Given the description of an element on the screen output the (x, y) to click on. 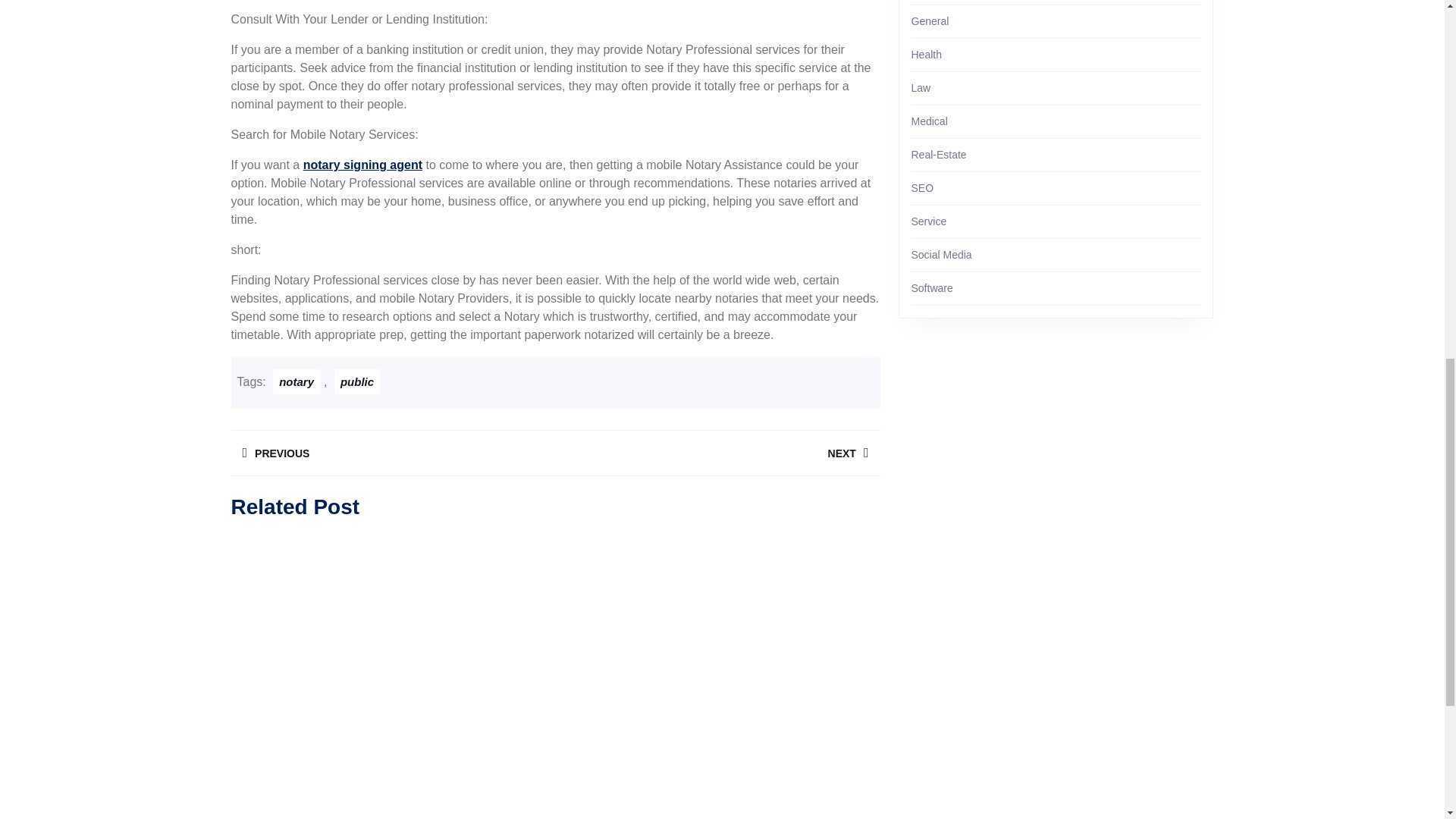
public (357, 381)
notary (392, 452)
notary signing agent (716, 452)
